Given the description of an element on the screen output the (x, y) to click on. 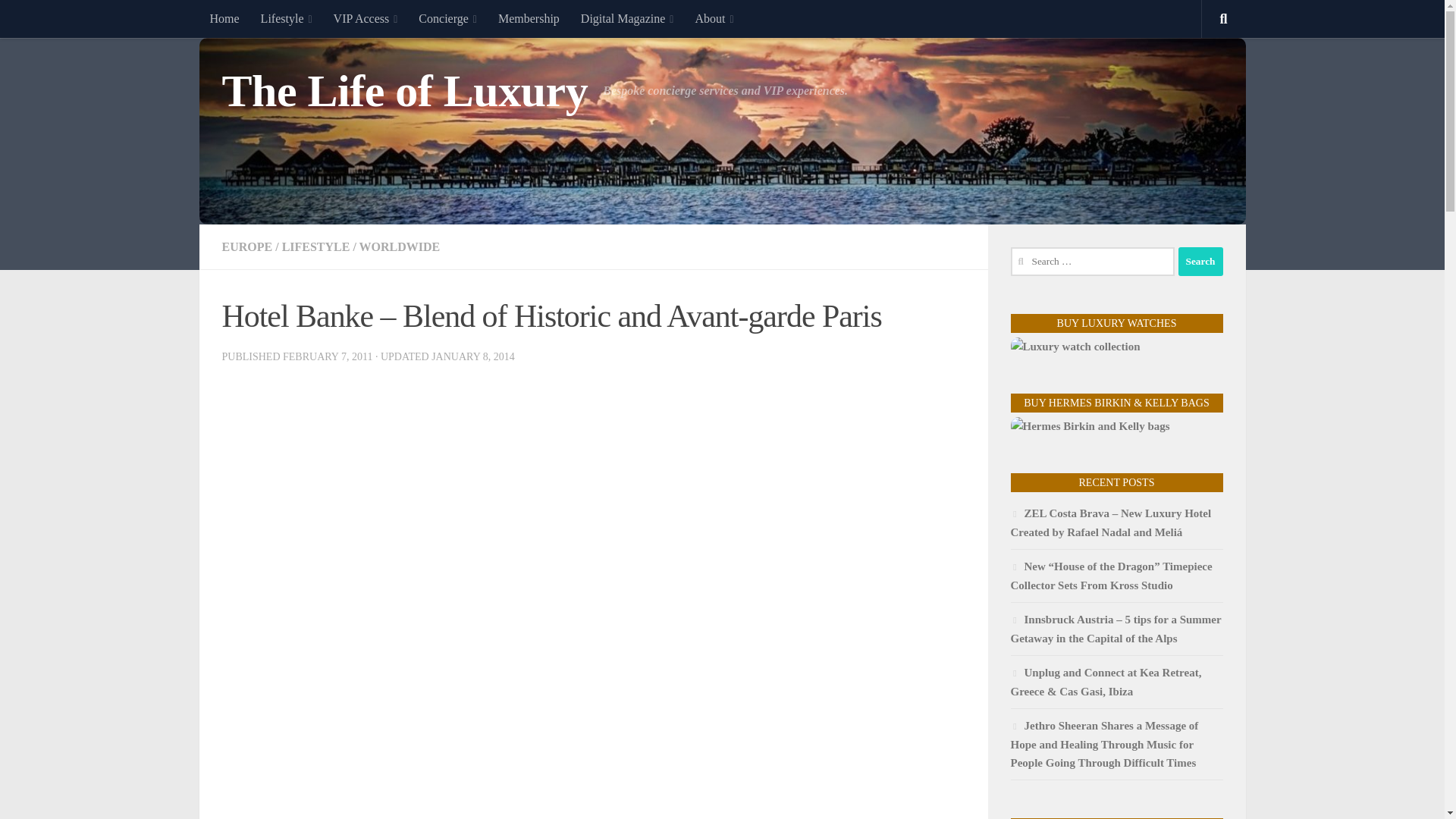
Search (1200, 261)
Skip to content (59, 20)
Search (1200, 261)
